Given the description of an element on the screen output the (x, y) to click on. 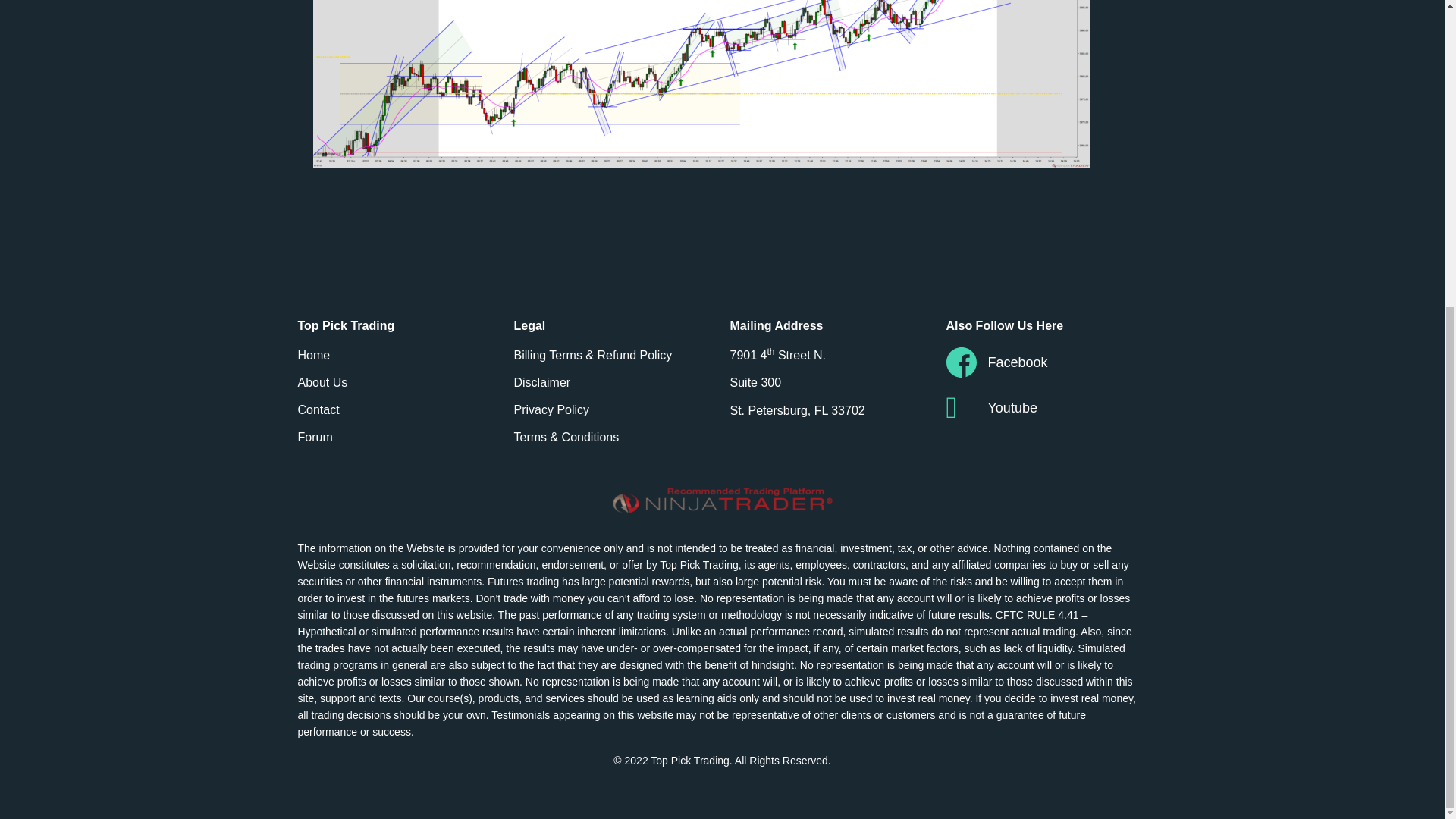
learn morecode (530, 731)
About Us (397, 382)
Youtube (1046, 408)
Privacy Policy (613, 410)
learn morecode (453, 731)
Myprepaidcenter (609, 731)
Contact (397, 410)
Disclaimer (613, 382)
Home (397, 355)
Forum (397, 437)
